Given the description of an element on the screen output the (x, y) to click on. 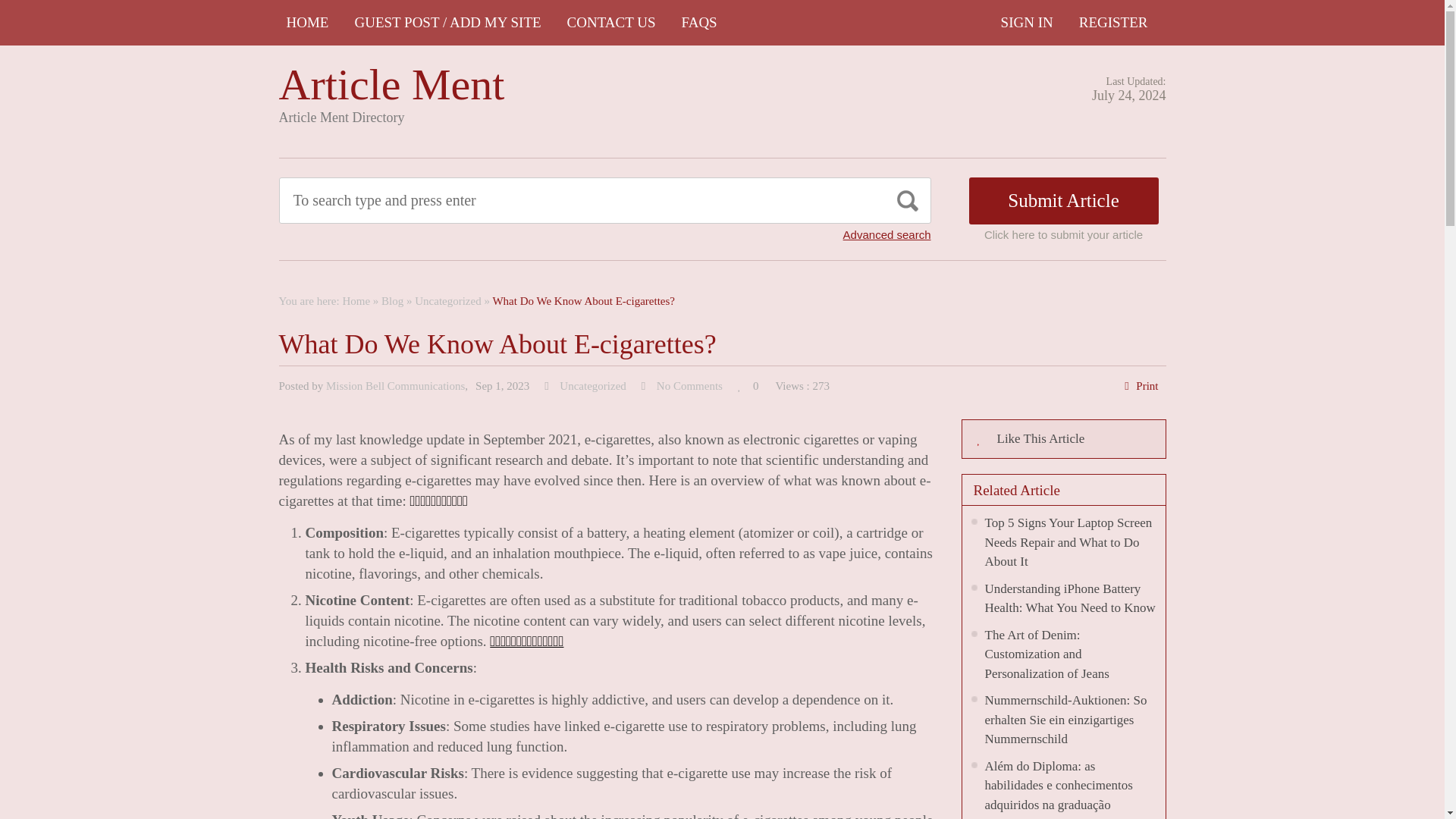
CONTACT US (611, 22)
To search type and press enter (535, 200)
Mission Bell Communications (395, 386)
Posts by Mission Bell Communications (395, 386)
Understanding iPhone Battery Health: What You Need to Know (1069, 597)
Like This Article (1063, 438)
HOME (307, 22)
Print (1146, 386)
Article Ment (392, 83)
No Comments (689, 386)
Uncategorized (592, 386)
Advanced search (887, 234)
